Given the description of an element on the screen output the (x, y) to click on. 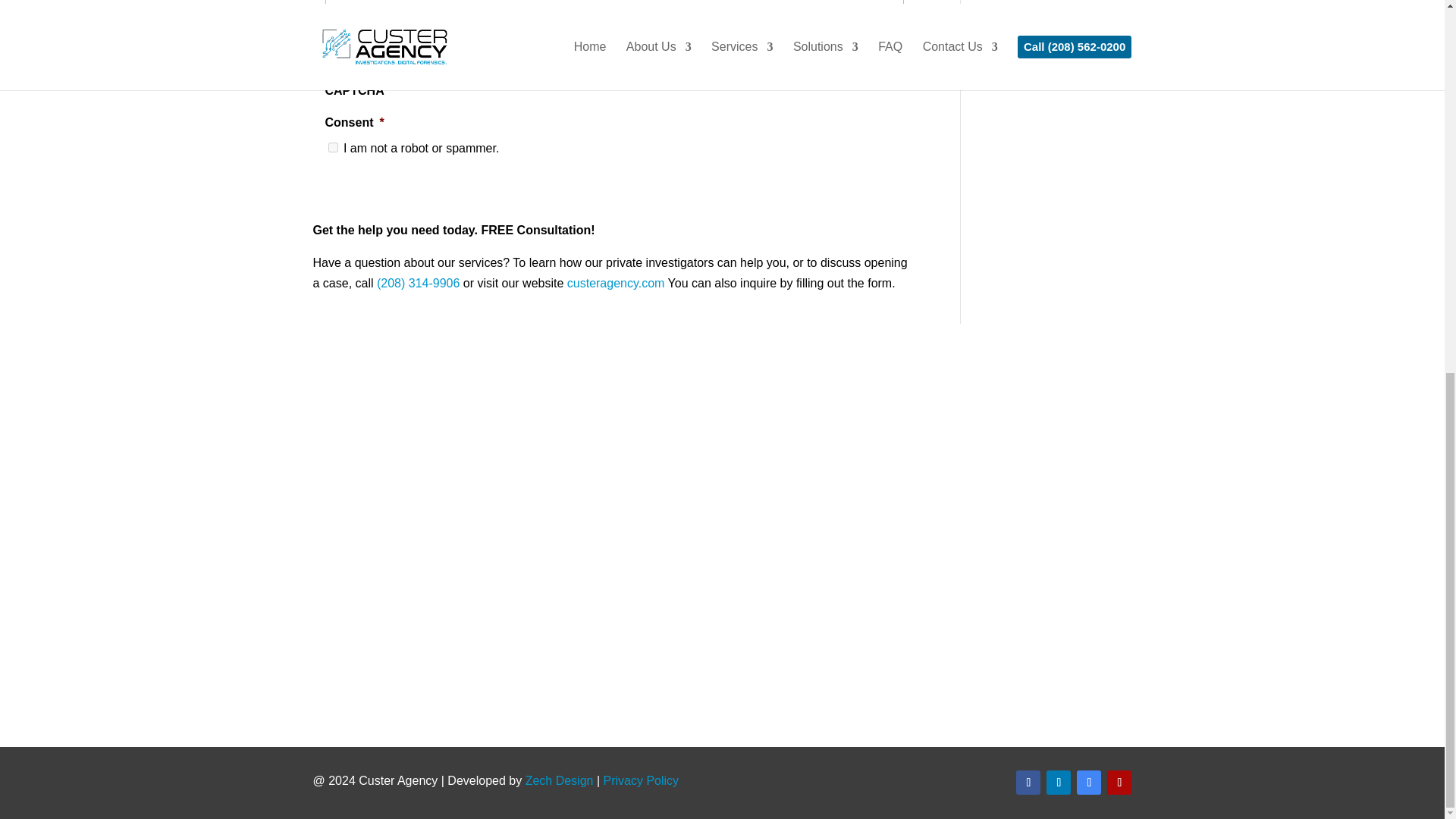
Follow on Facebook (1028, 782)
Follow on Google (1088, 782)
Follow on Yelp (1118, 782)
1 (332, 147)
Follow on LinkedIn (1058, 782)
